Given the description of an element on the screen output the (x, y) to click on. 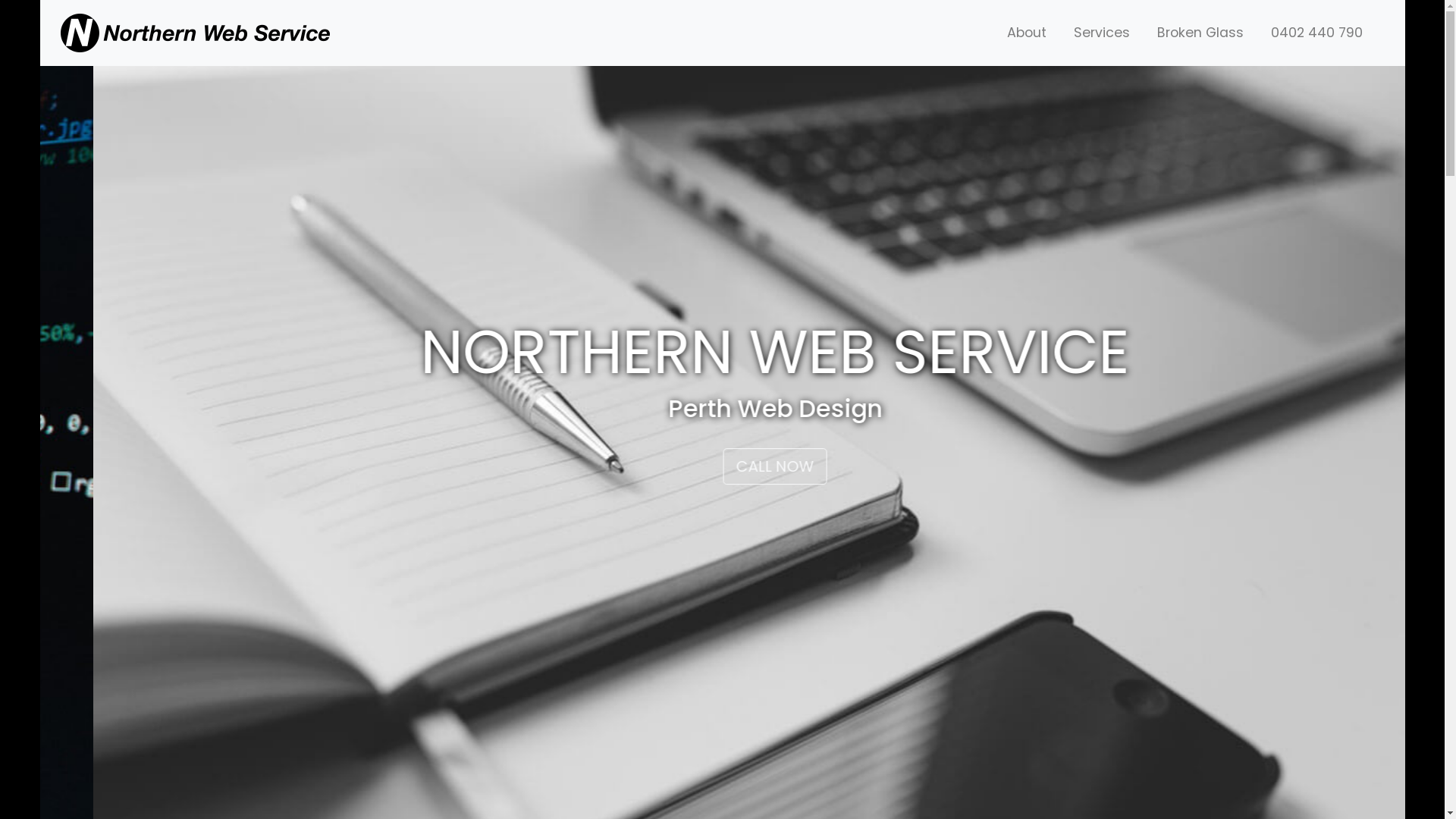
CALL NOW Element type: text (503, 466)
CALL NOW Element type: text (546, 464)
Services Element type: text (1101, 32)
Broken Glass Element type: text (1200, 32)
About Element type: text (1026, 32)
0402 440 790 Element type: text (1316, 32)
